Given the description of an element on the screen output the (x, y) to click on. 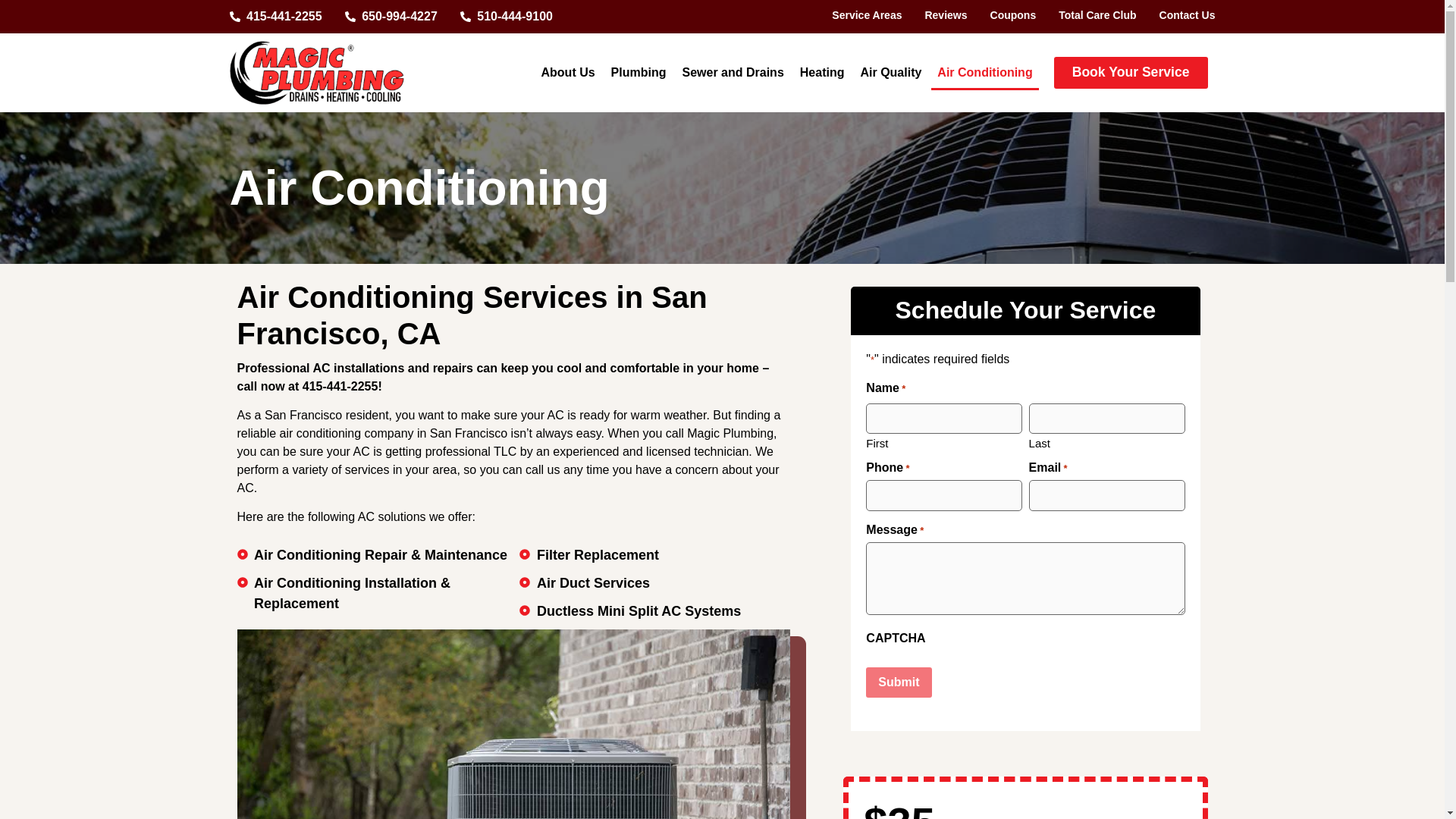
650-994-4227 (391, 16)
Coupons (1013, 15)
Reviews (945, 15)
Plumbing (638, 72)
Heating (821, 72)
415-441-2255 (274, 16)
Service Areas (866, 15)
Total Care Club (1096, 15)
Submit (898, 682)
About Us (568, 72)
